Given the description of an element on the screen output the (x, y) to click on. 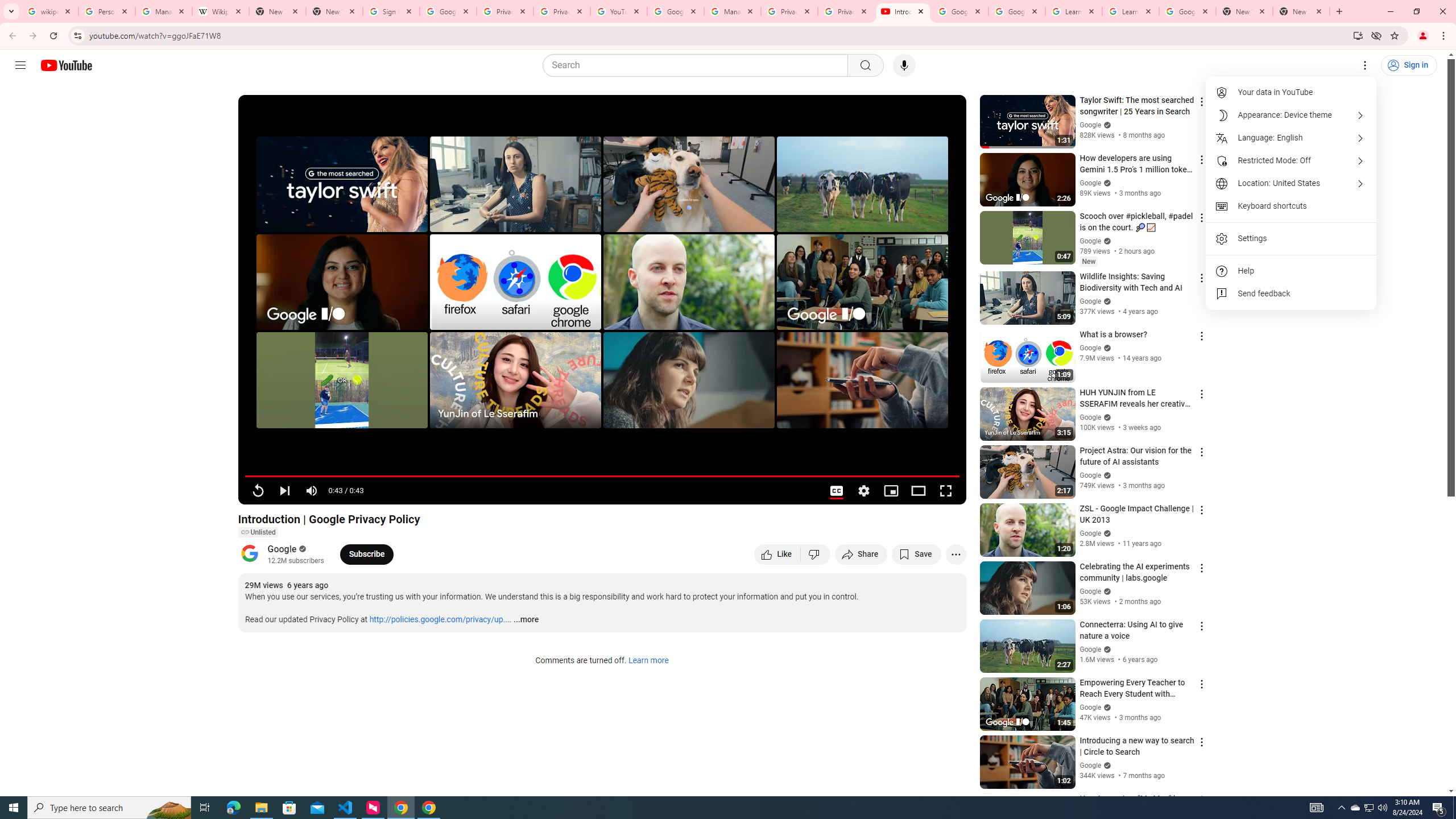
New Tab (1301, 11)
Pause (k) (257, 490)
Send feedback (1291, 293)
Google Account (1187, 11)
More actions (955, 554)
